Given the description of an element on the screen output the (x, y) to click on. 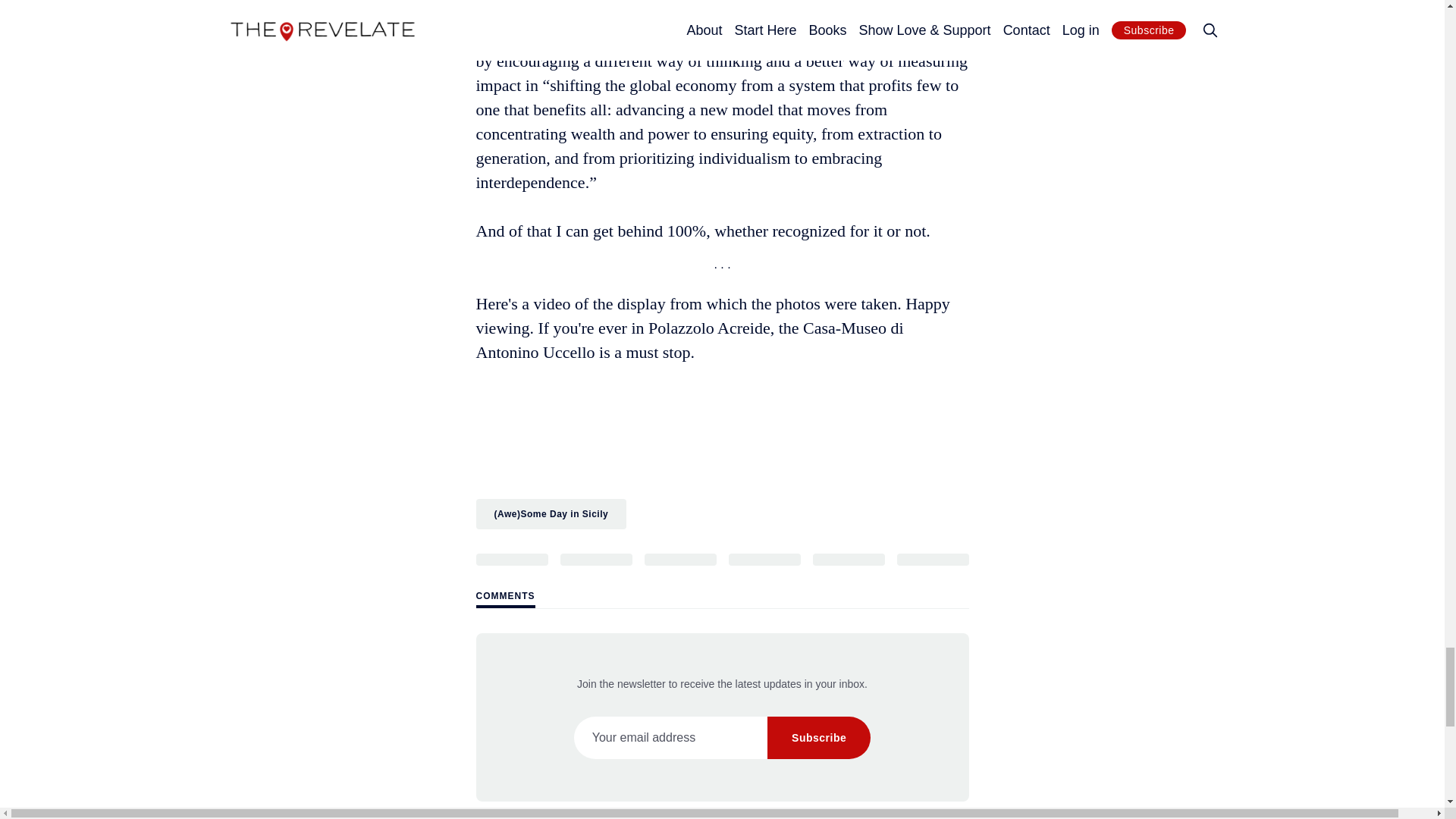
Share on Twitter (512, 559)
Share on Facebook (595, 559)
Copy link (932, 559)
Share via Email (848, 559)
On Saeculum (722, 432)
Share on LinkedIn (680, 559)
Share on Pinterest (763, 559)
Subscribe (818, 737)
